Given the description of an element on the screen output the (x, y) to click on. 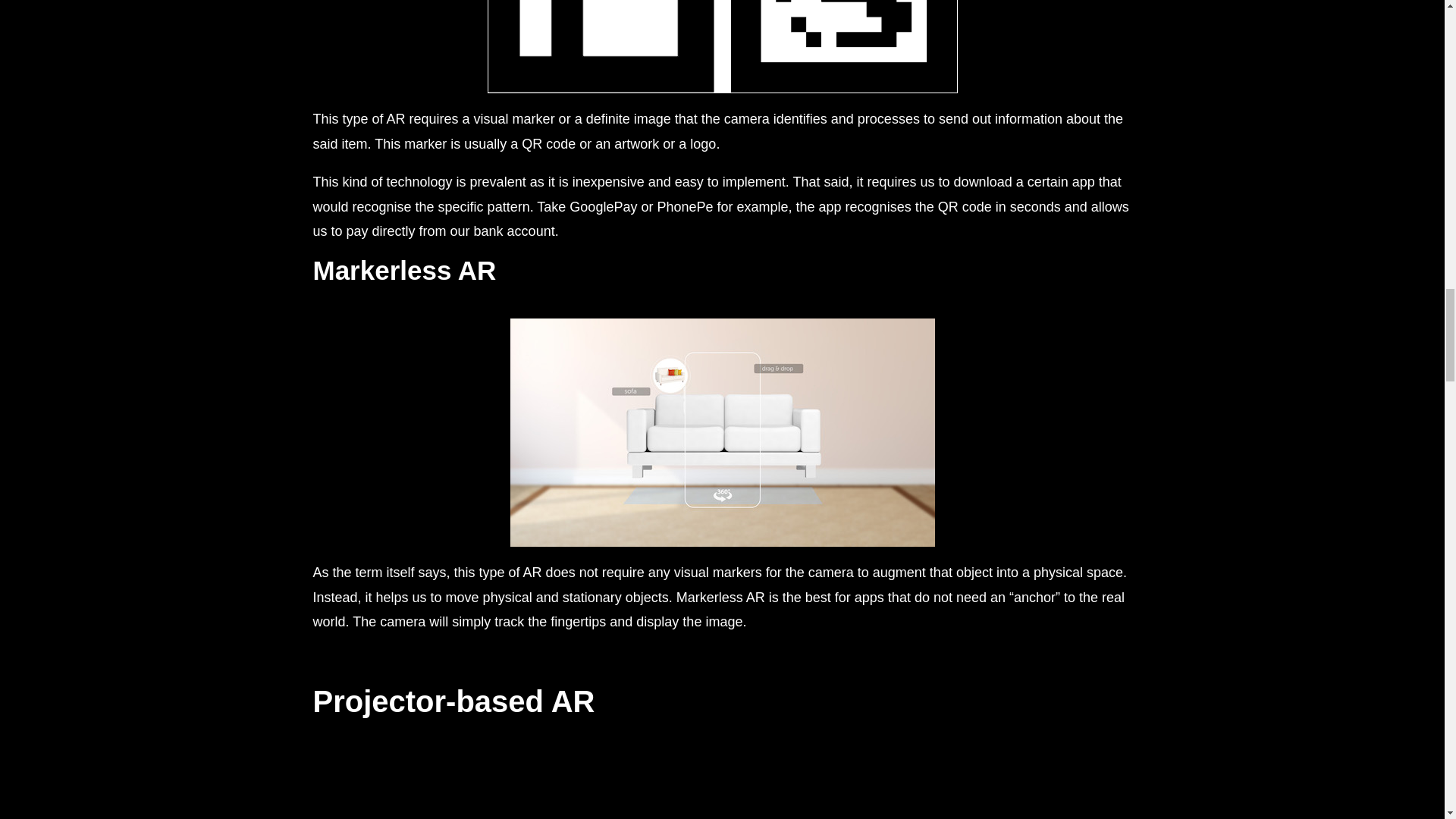
Augmented Reality for Dummies 3 (721, 432)
Augmented Reality for Dummies 2 (721, 46)
Projection-based Augmented Reality Demo (722, 789)
